Given the description of an element on the screen output the (x, y) to click on. 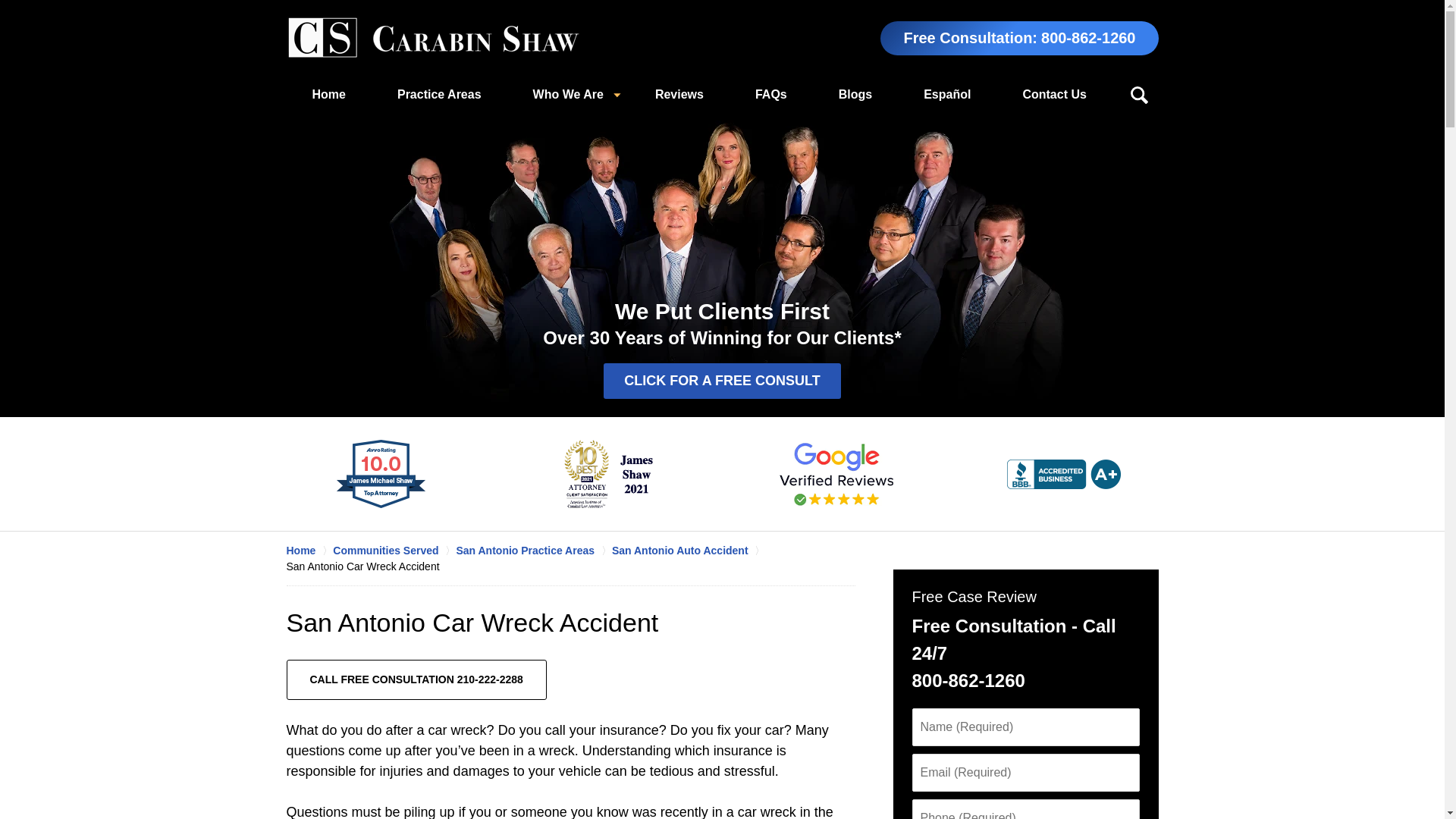
San Antonio Practice Areas (533, 550)
Who We Are (567, 94)
Home (328, 94)
CALL FREE CONSULTATION 210-222-2288 (416, 680)
CLICK FOR A FREE CONSULT (722, 380)
Back to Home (432, 37)
FAQs (770, 94)
Contact Us (1053, 94)
Free Consultation: 800-862-1260 (1018, 38)
San Antonio Auto Accident (688, 550)
Blogs (855, 94)
Communities Served (394, 550)
Bexar County Auto Injury Lawyers Carabin Shaw Home (432, 37)
Practice Areas (438, 94)
Reviews (678, 94)
